Given the description of an element on the screen output the (x, y) to click on. 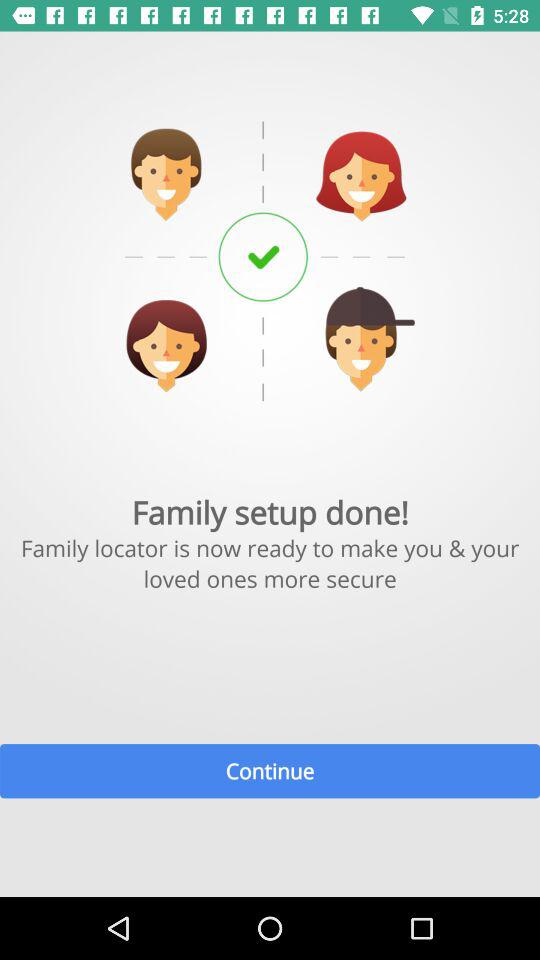
scroll until the continue icon (270, 770)
